Given the description of an element on the screen output the (x, y) to click on. 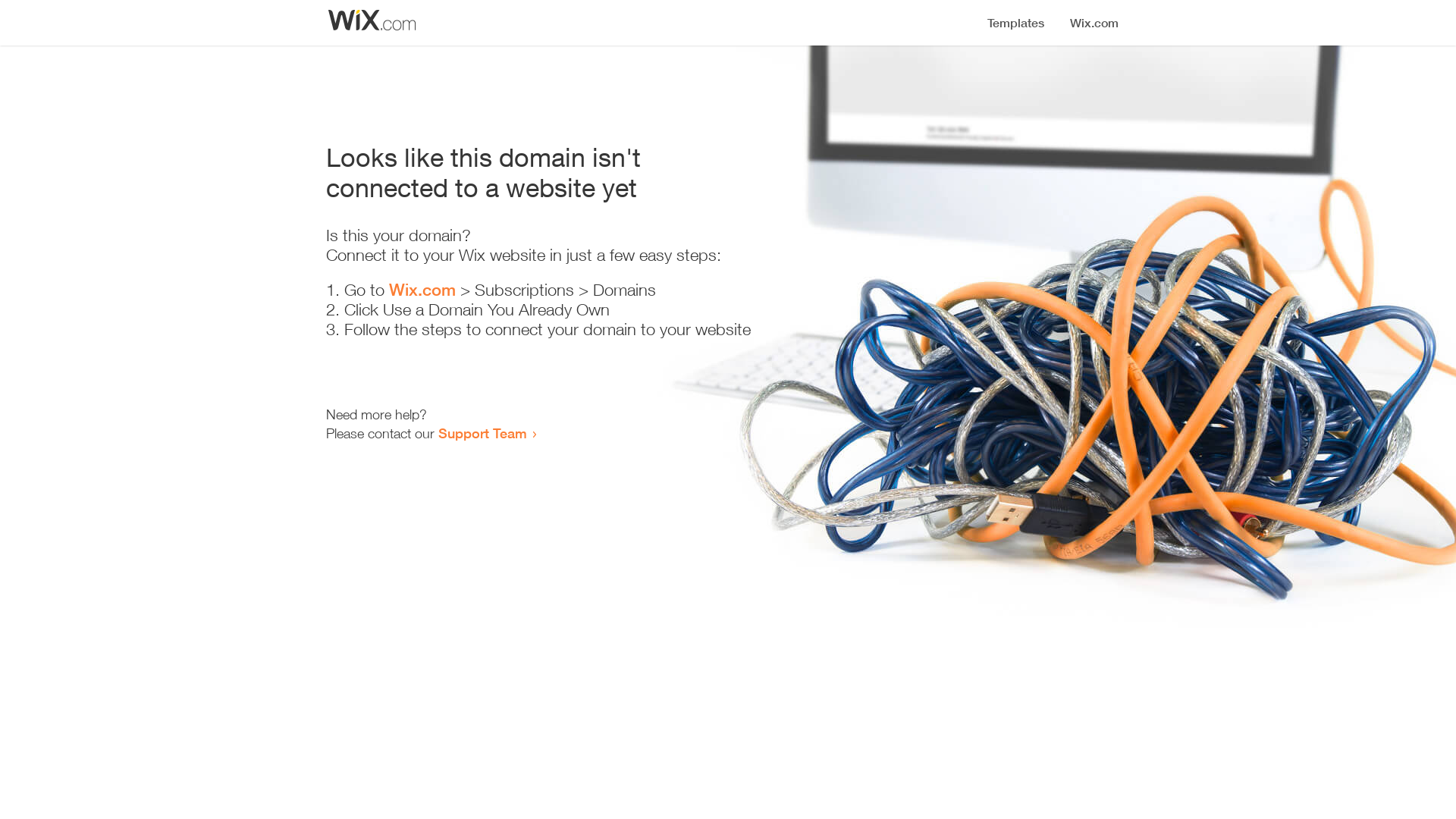
Support Team Element type: text (482, 432)
Wix.com Element type: text (422, 289)
